Given the description of an element on the screen output the (x, y) to click on. 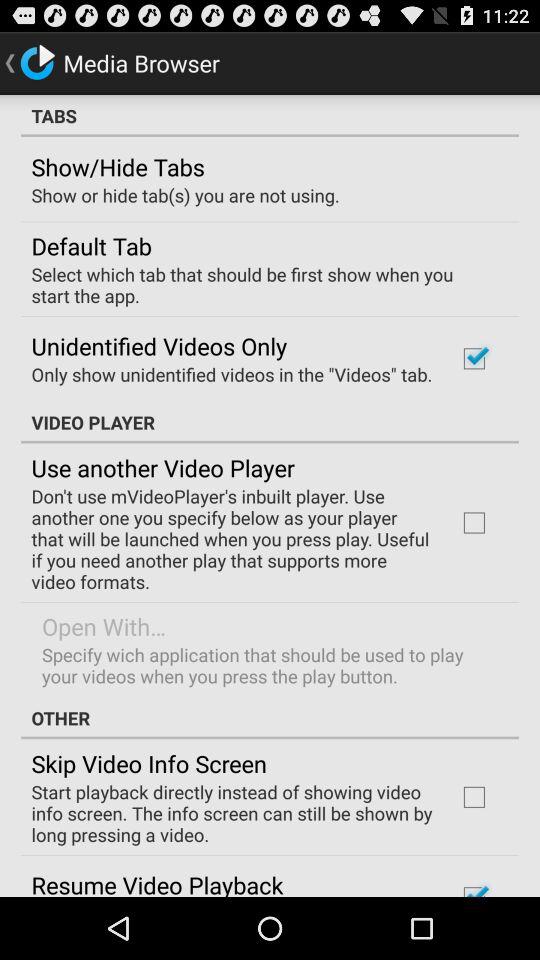
press the app above skip video info (270, 718)
